Given the description of an element on the screen output the (x, y) to click on. 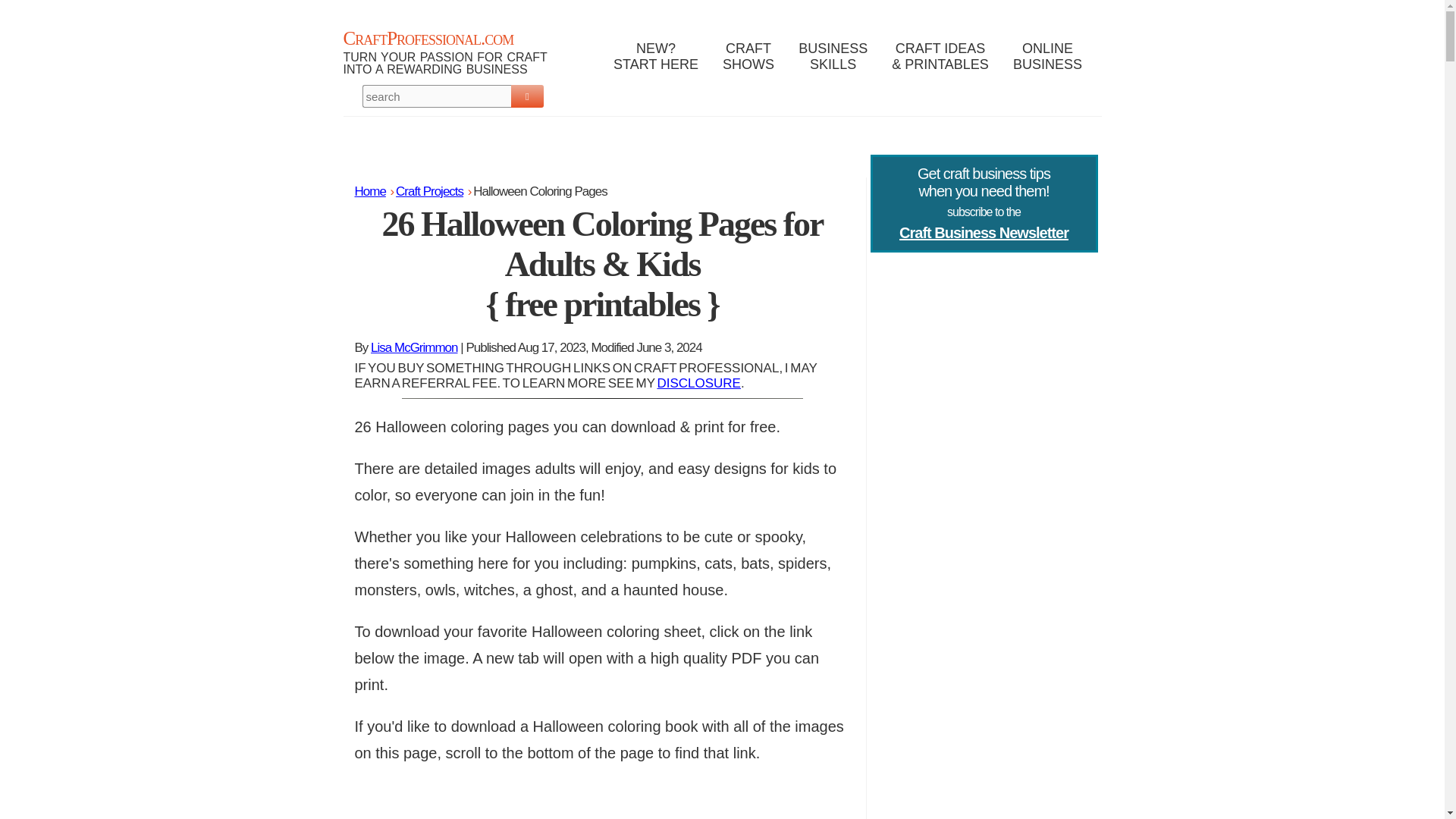
DISCLOSURE (698, 382)
Craft Projects (429, 191)
CraftProfessional.com (1043, 66)
Lisa McGrimmon (427, 37)
Home (414, 347)
